Given the description of an element on the screen output the (x, y) to click on. 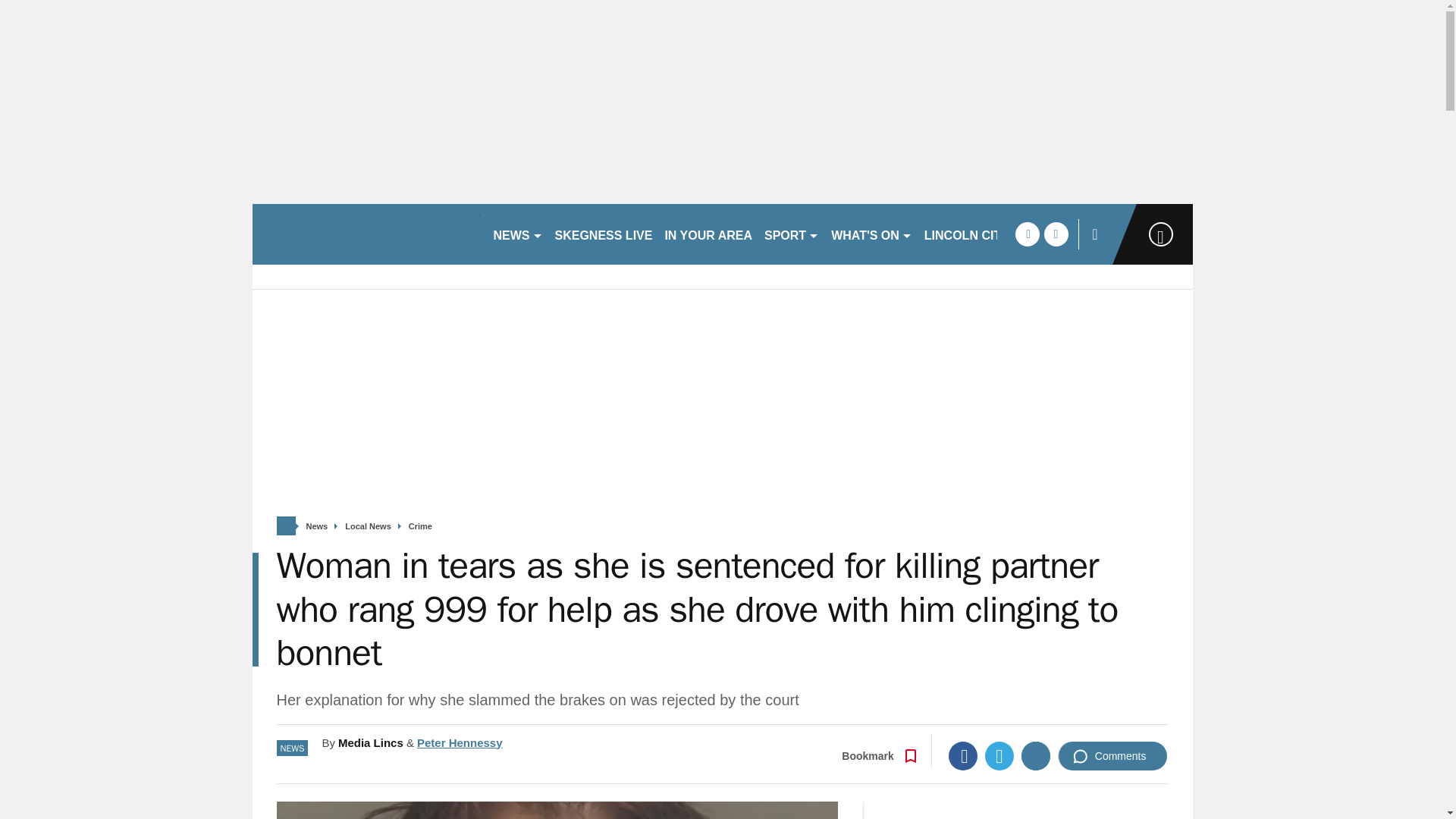
LINCOLN CITY FC (975, 233)
WHAT'S ON (871, 233)
facebook (1026, 233)
NEWS (517, 233)
lincolnshirelive (365, 233)
Twitter (999, 756)
IN YOUR AREA (708, 233)
Facebook (962, 756)
twitter (1055, 233)
SPORT (791, 233)
